Given the description of an element on the screen output the (x, y) to click on. 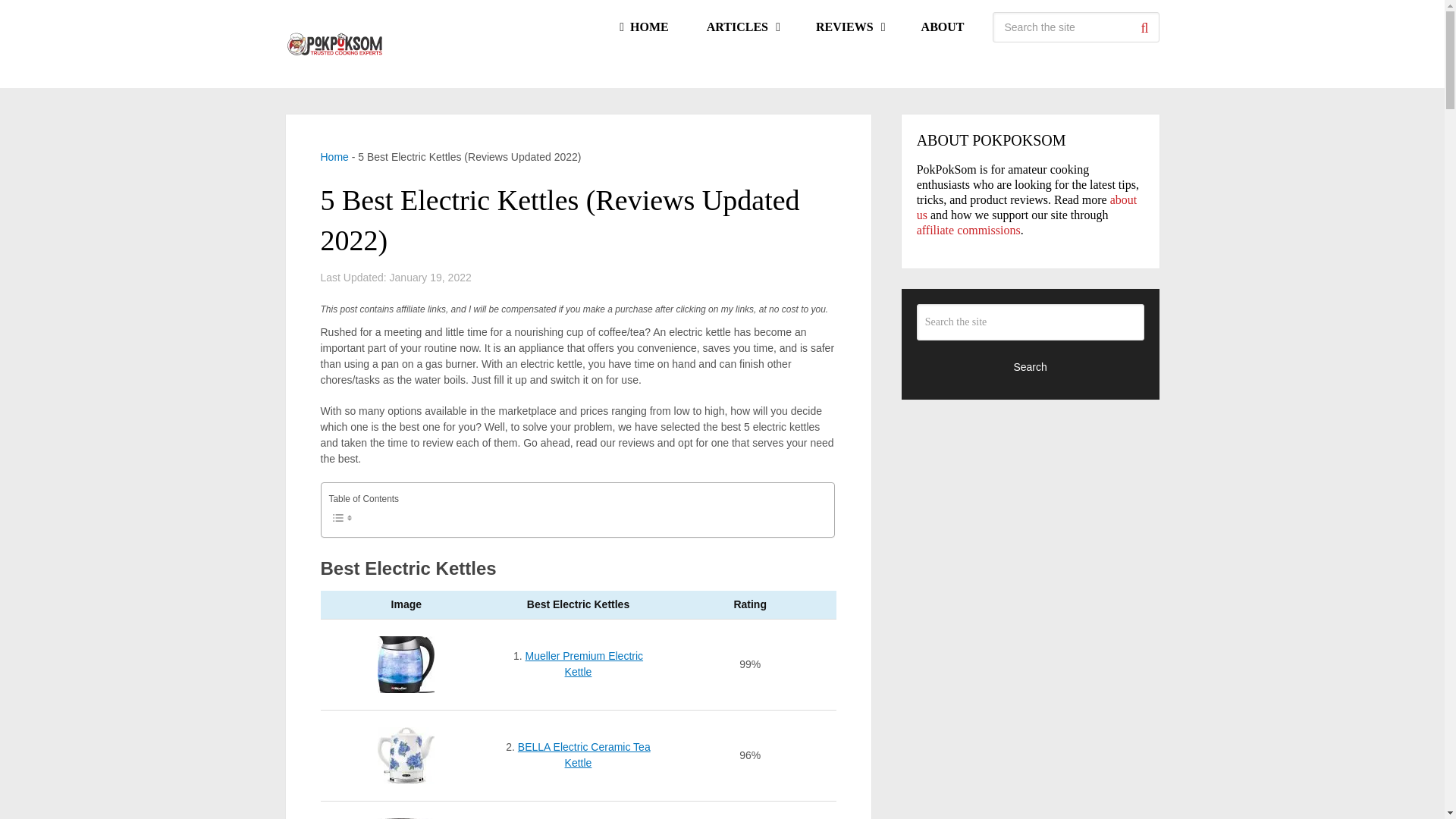
Search (1143, 27)
HOME (643, 27)
ARTICLES (741, 27)
REVIEWS (849, 27)
ABOUT (943, 27)
